Given the description of an element on the screen output the (x, y) to click on. 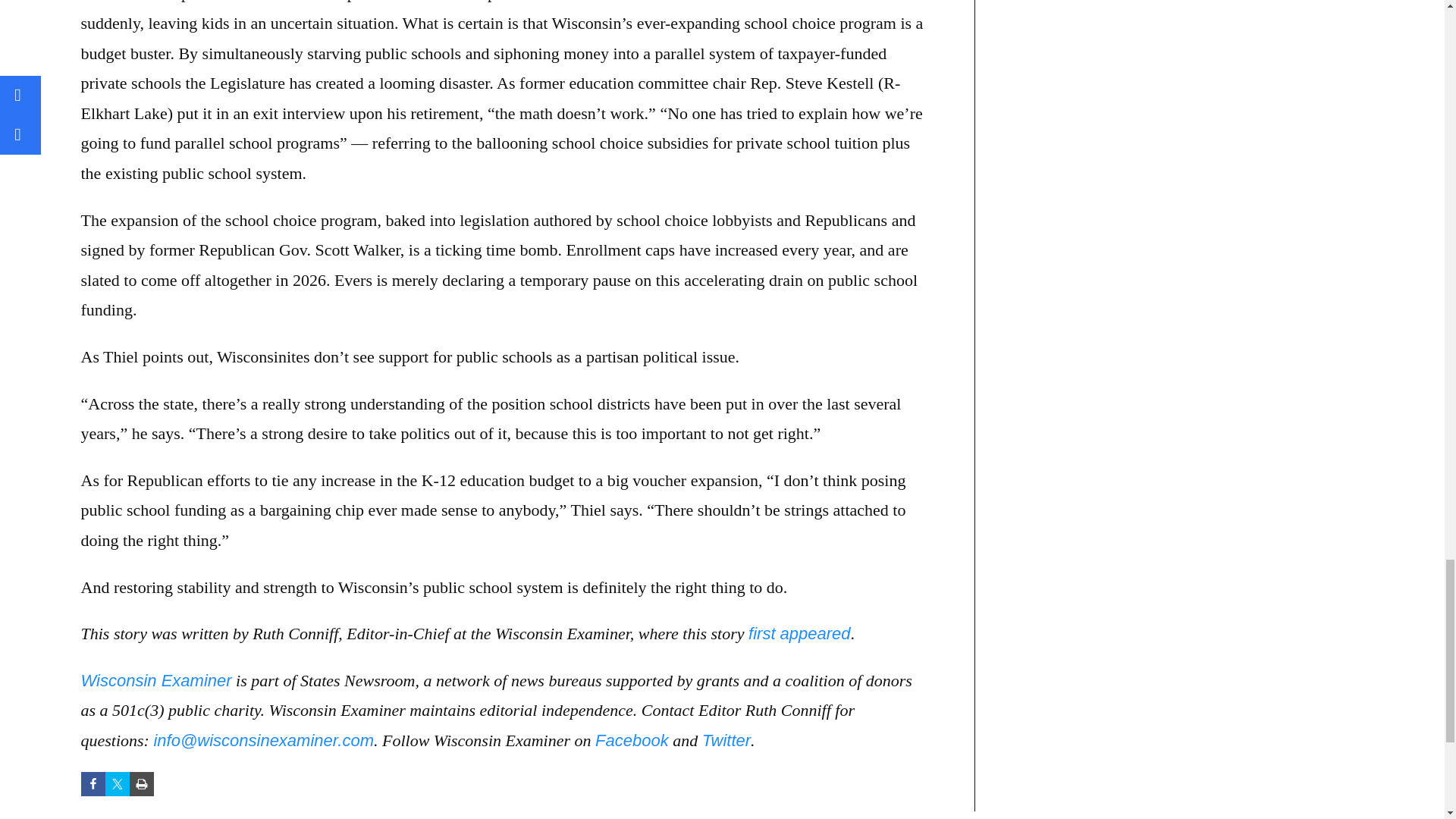
Share on Twitter (116, 784)
first appeared (799, 633)
Share on Facebook (92, 784)
Facebook (631, 740)
Twitter (726, 740)
Print this Page (140, 784)
Wisconsin Examiner (155, 680)
